Given the description of an element on the screen output the (x, y) to click on. 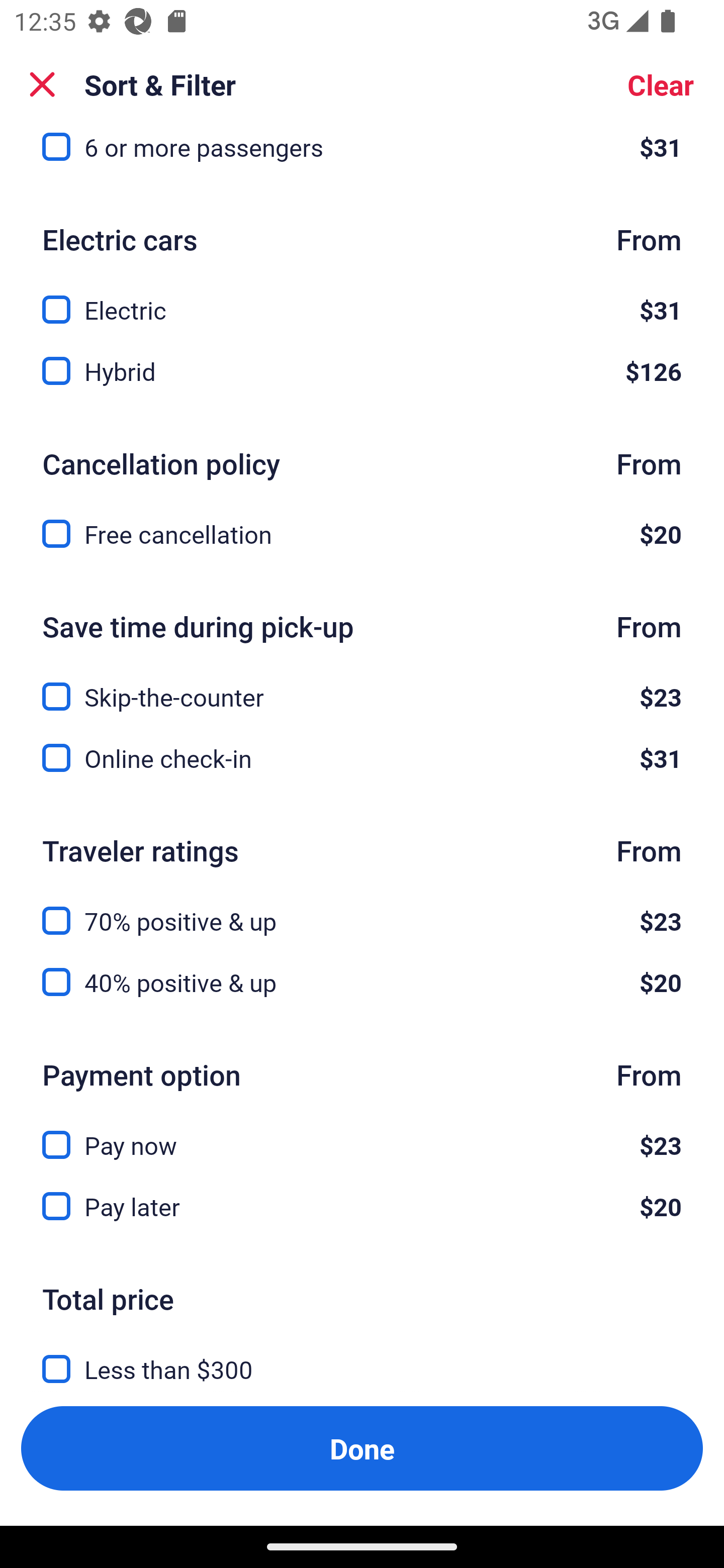
Close Sort and Filter (42, 84)
Clear (660, 84)
6 or more passengers, $31 6 or more passengers $31 (361, 158)
Electric, $31 Electric $31 (361, 298)
Hybrid, $126 Hybrid $126 (361, 371)
Free cancellation, $20 Free cancellation $20 (361, 534)
Skip-the-counter, $23 Skip-the-counter $23 (361, 685)
Online check-in, $31 Online check-in $31 (361, 758)
70% positive & up, $23 70% positive & up $23 (361, 909)
40% positive & up, $20 40% positive & up $20 (361, 982)
Pay now, $23 Pay now $23 (361, 1134)
Pay later, $20 Pay later $20 (361, 1206)
Less than $300, Less than $300 (361, 1357)
Apply and close Sort and Filter Done (361, 1448)
